Given the description of an element on the screen output the (x, y) to click on. 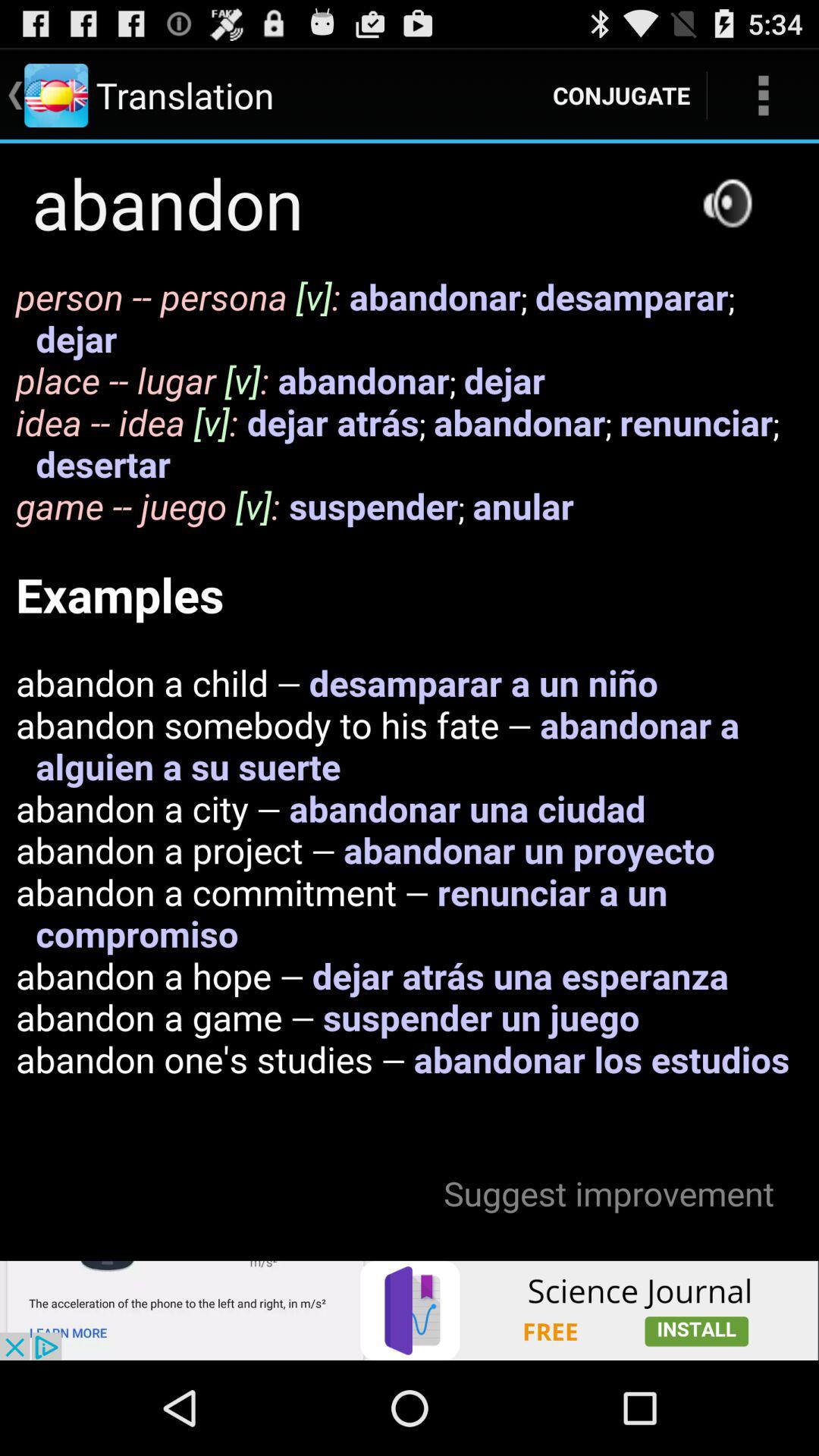
read aloud (727, 202)
